Given the description of an element on the screen output the (x, y) to click on. 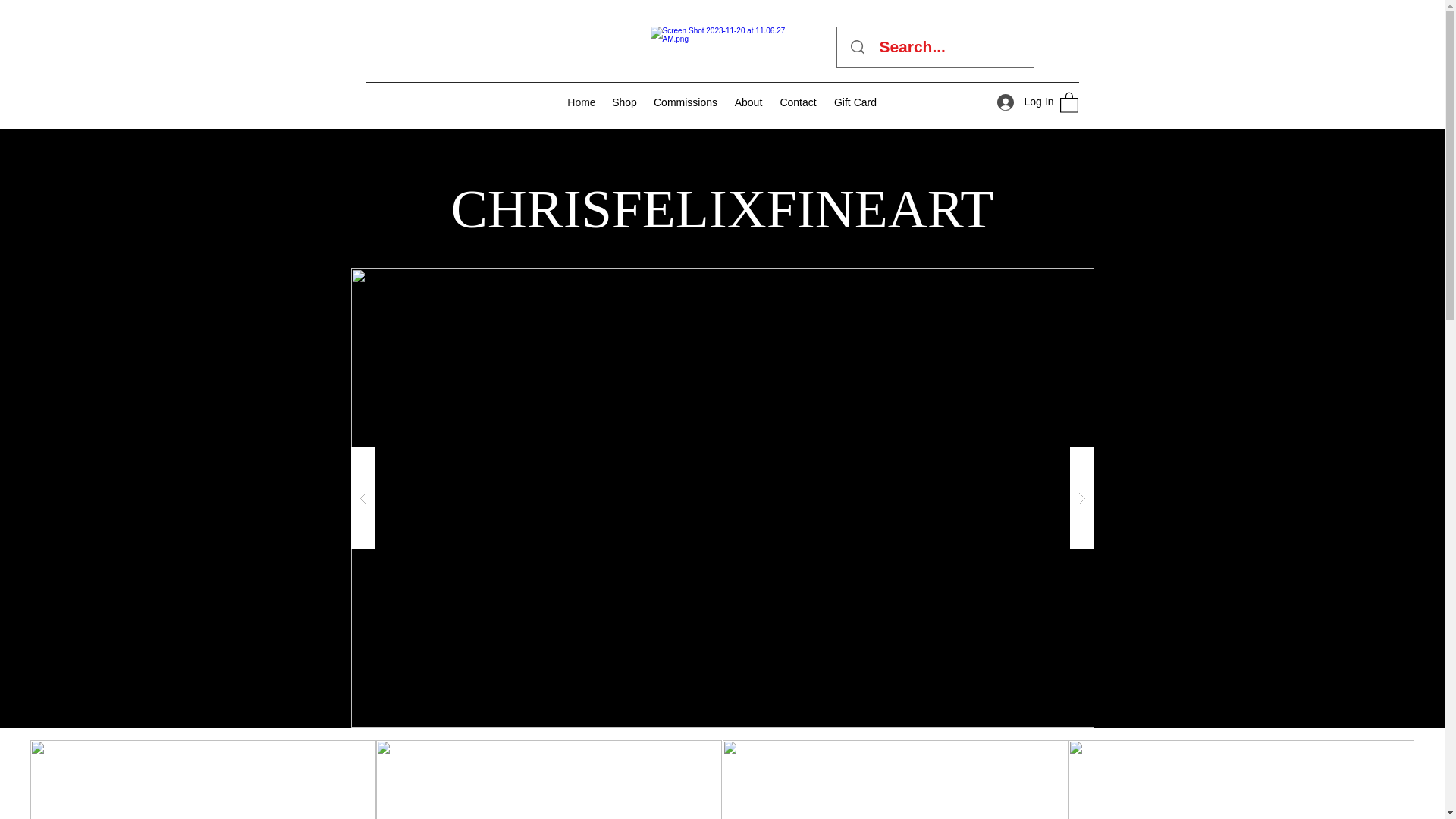
About (748, 101)
Log In (1019, 101)
Home (581, 101)
Gift Card (855, 101)
Shop (624, 101)
Commissions (685, 101)
Contact (797, 101)
